Given the description of an element on the screen output the (x, y) to click on. 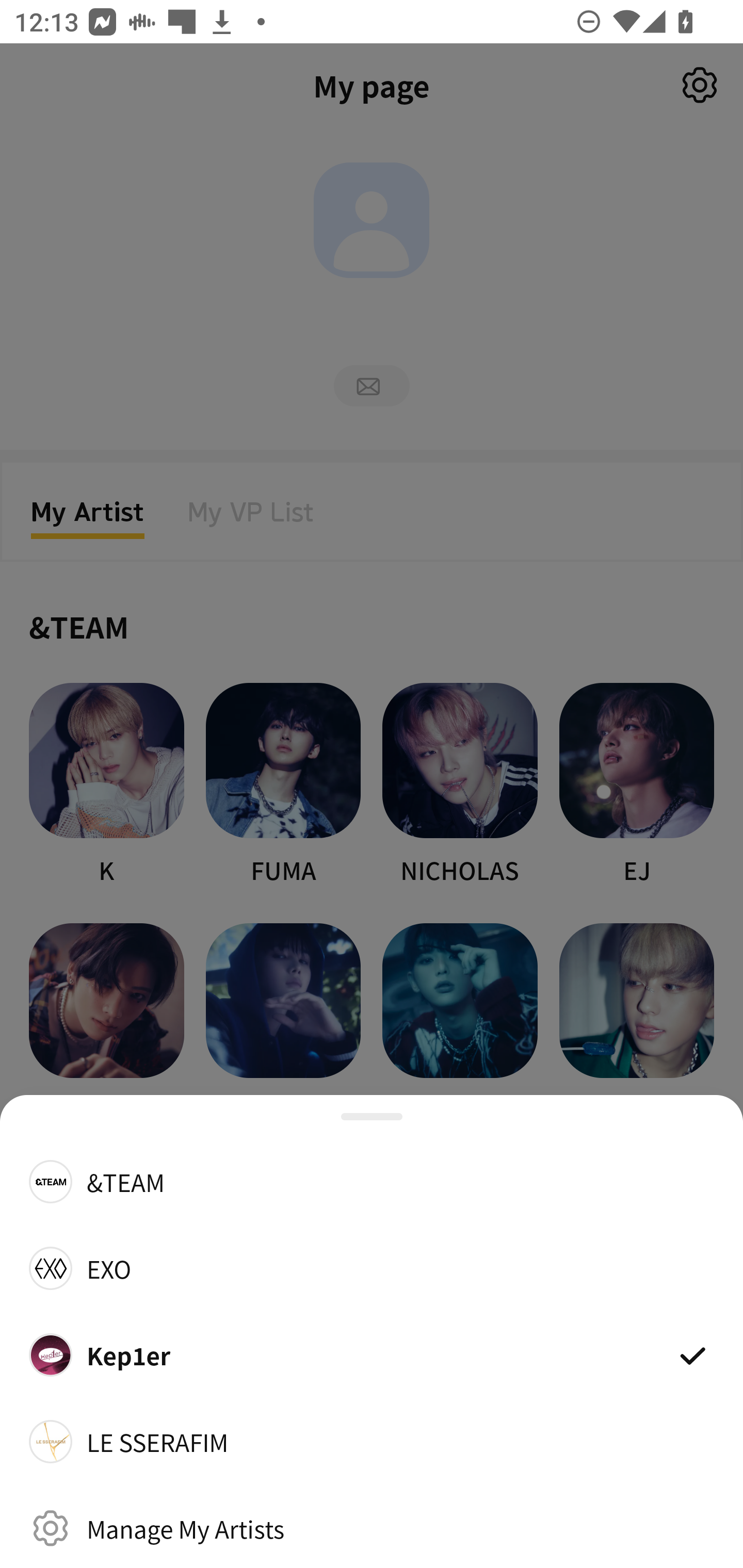
&TEAM (371, 1181)
EXO (371, 1268)
Kep1er (371, 1354)
LE SSERAFIM (371, 1441)
Manage My Artists (371, 1527)
